Given the description of an element on the screen output the (x, y) to click on. 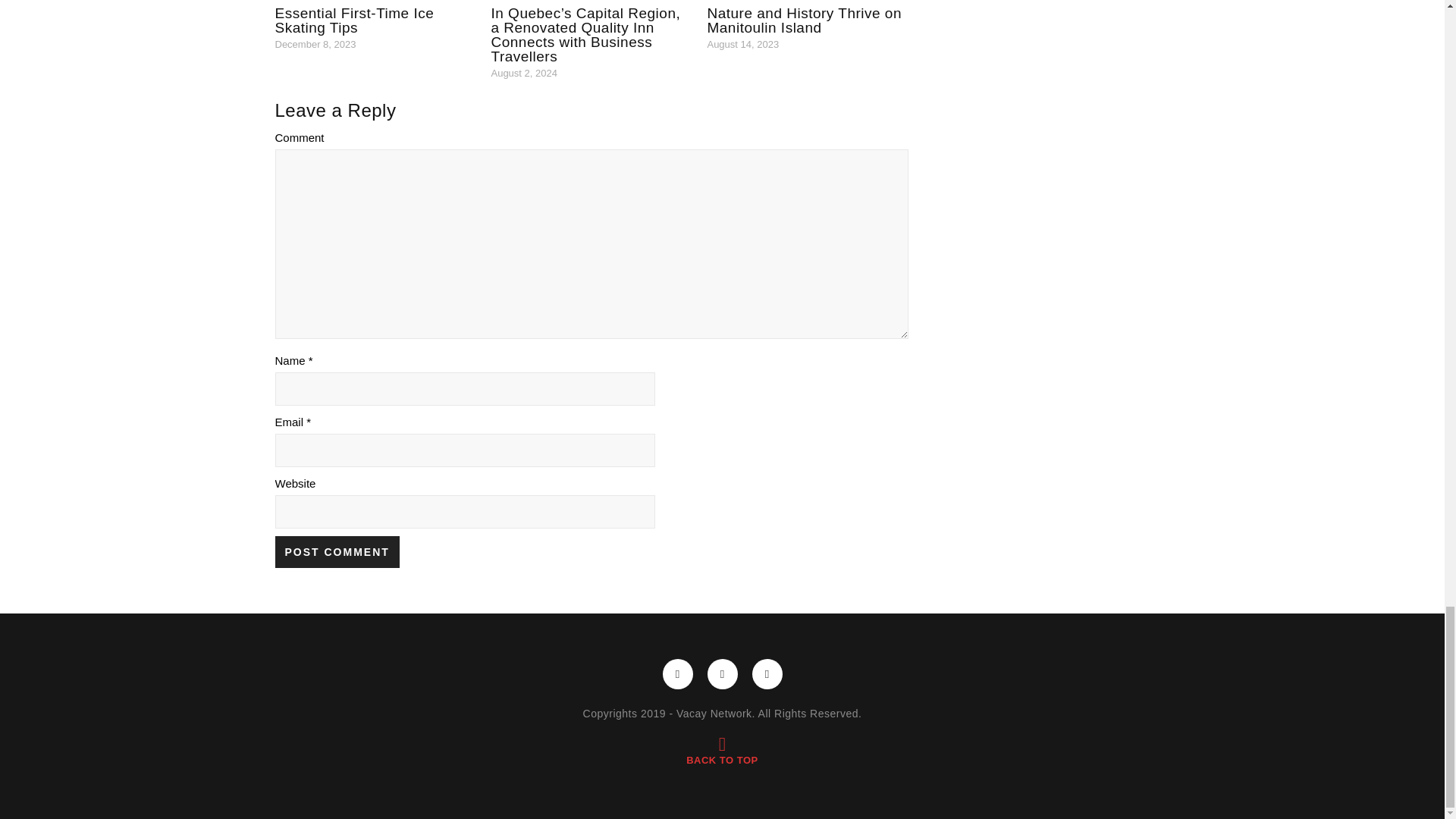
Post Comment (336, 552)
